Given the description of an element on the screen output the (x, y) to click on. 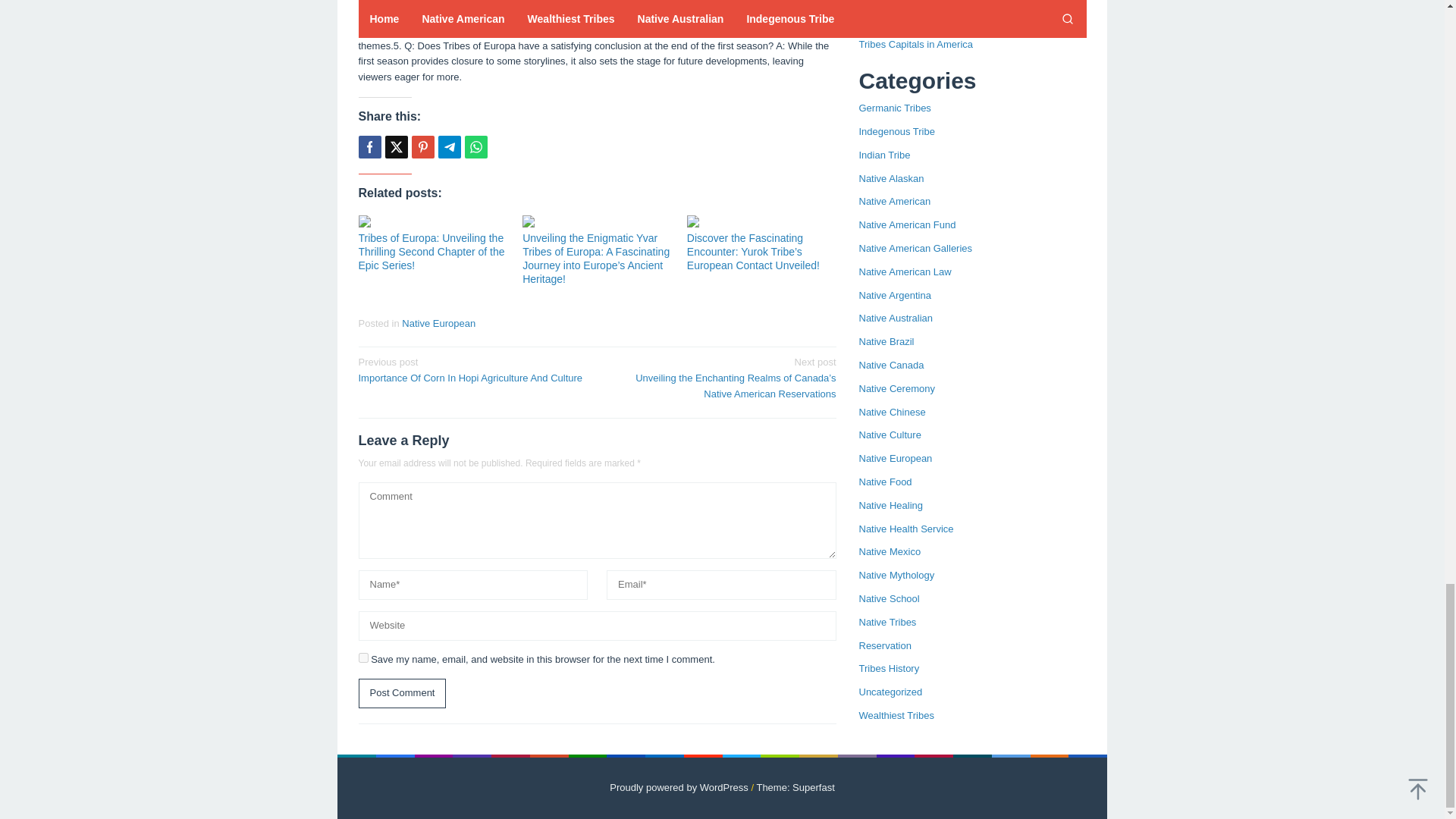
Native European (438, 323)
Whatsapp (475, 146)
yes (363, 657)
Telegram Share (449, 146)
Tweet this (396, 146)
Share this (369, 146)
Post Comment (401, 693)
Pin this (421, 146)
Post Comment (401, 693)
